Given the description of an element on the screen output the (x, y) to click on. 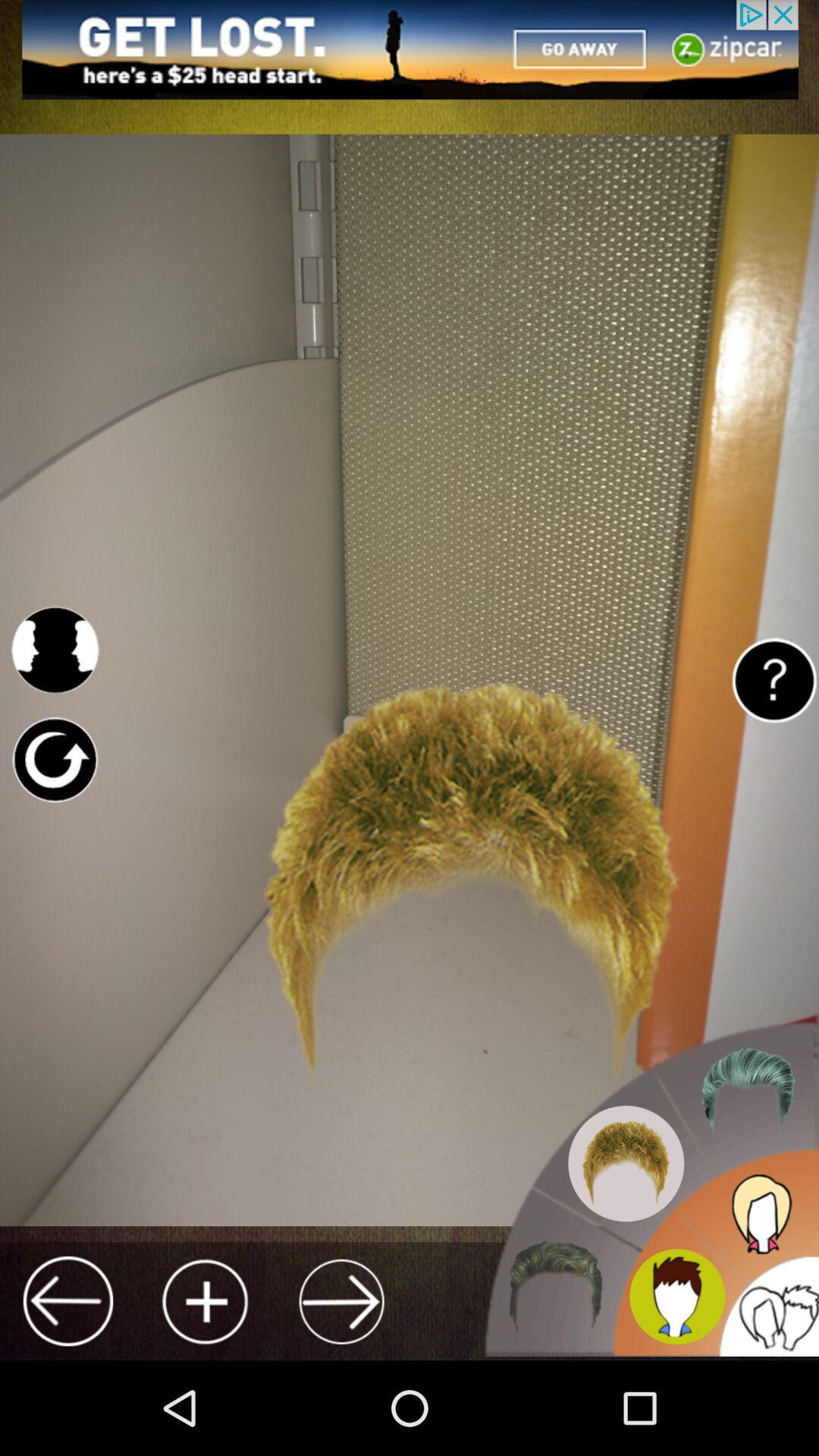
reload page (55, 759)
